Given the description of an element on the screen output the (x, y) to click on. 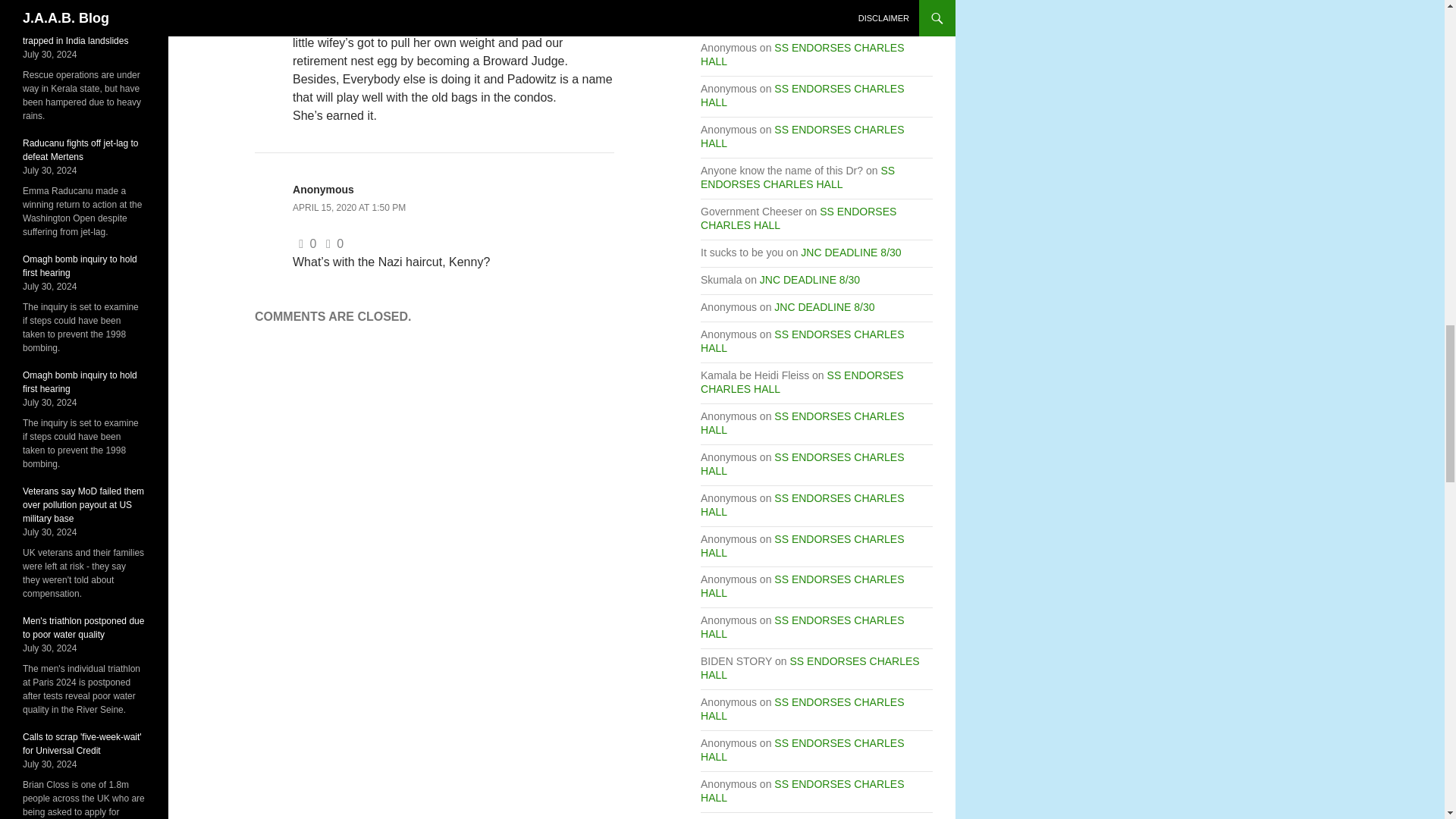
APRIL 15, 2020 AT 1:50 PM (349, 207)
